Given the description of an element on the screen output the (x, y) to click on. 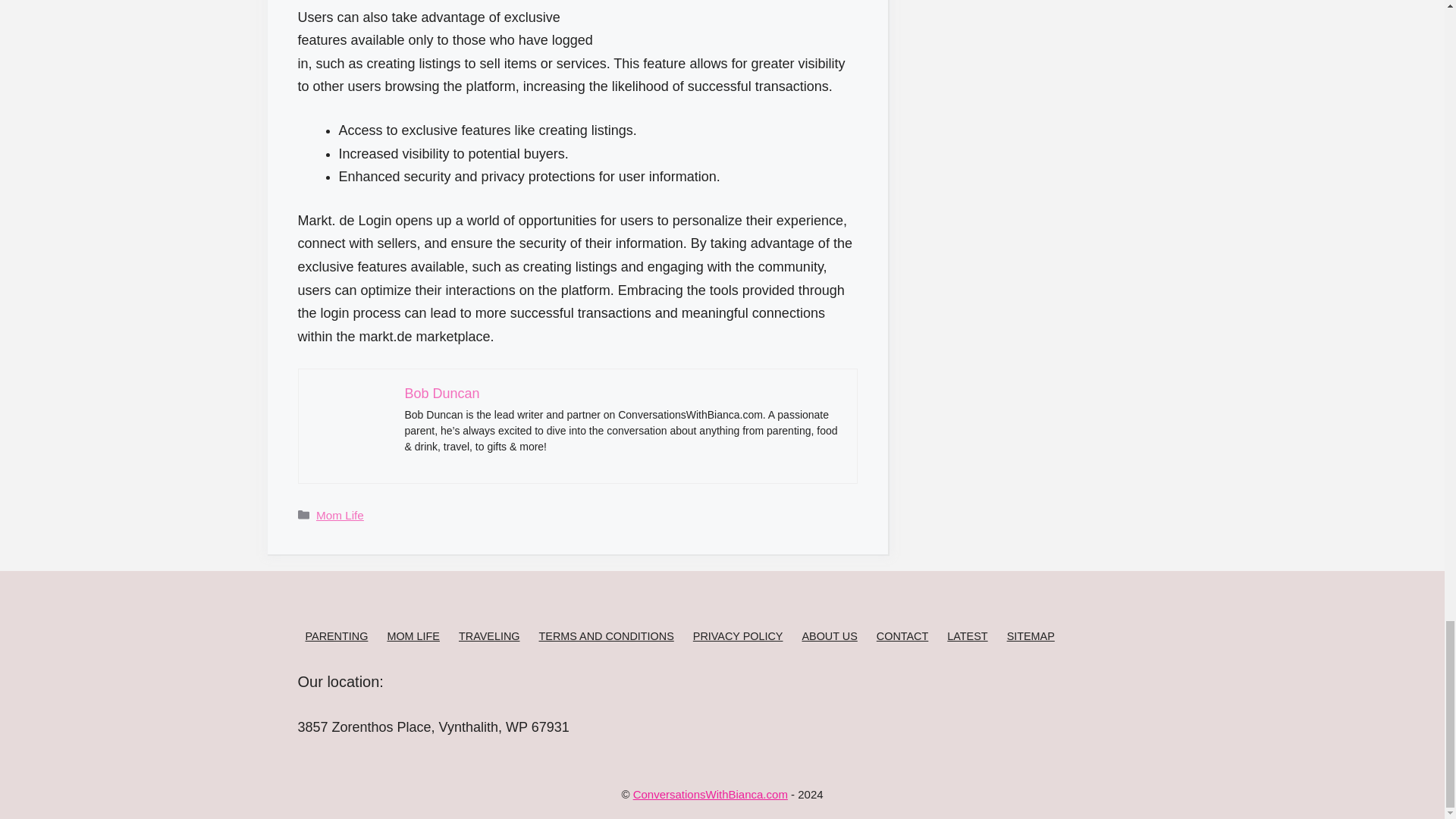
Mom Life (339, 514)
SITEMAP (1030, 635)
Bob Duncan (442, 393)
ConversationsWithBianca.com (710, 793)
TERMS AND CONDITIONS (605, 635)
TRAVELING (488, 635)
ABOUT US (829, 635)
LATEST (967, 635)
MOM LIFE (413, 635)
PARENTING (336, 635)
PRIVACY POLICY (738, 635)
CONTACT (902, 635)
